Given the description of an element on the screen output the (x, y) to click on. 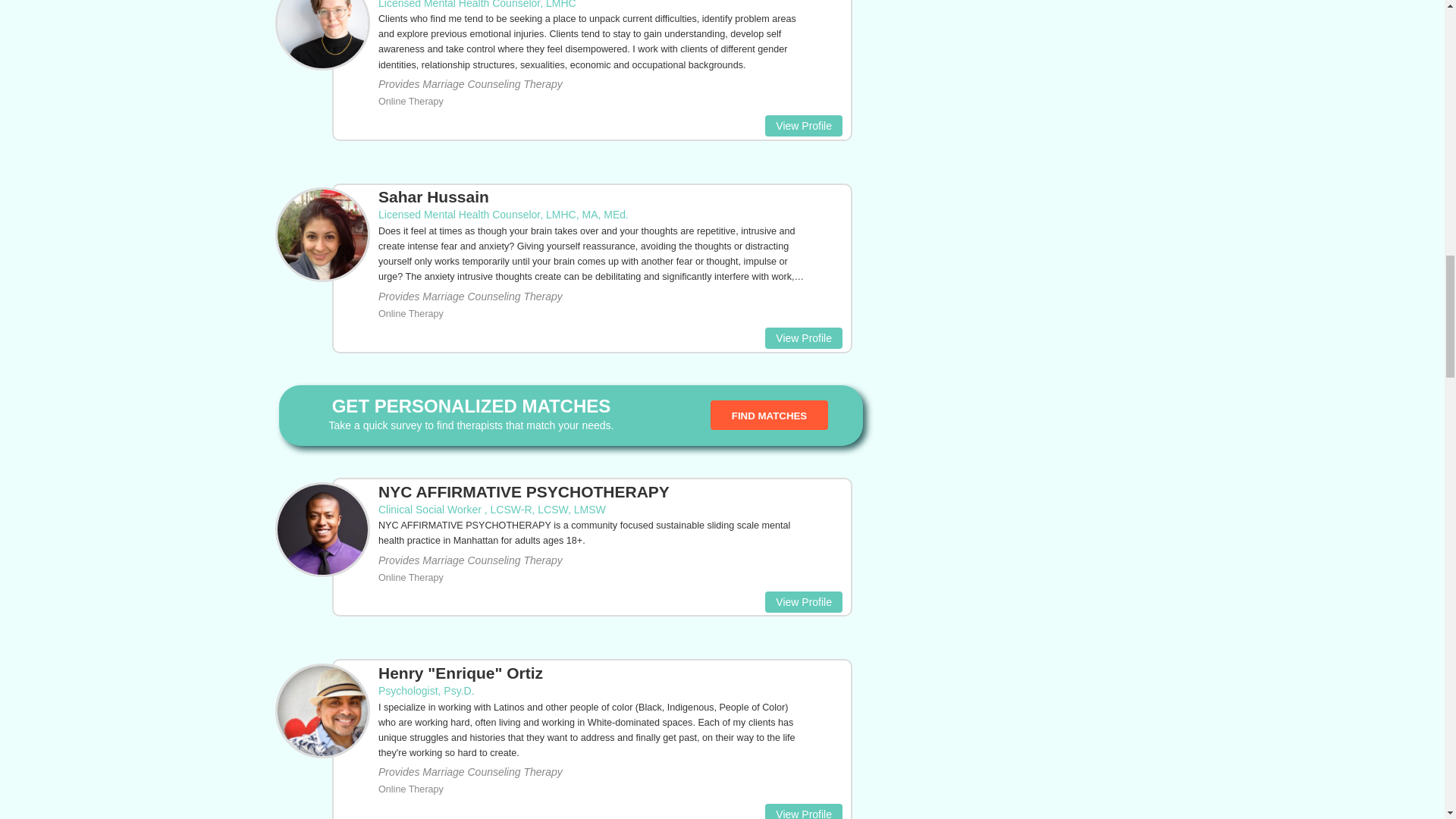
View Profile (804, 125)
View Profile (804, 337)
